Given the description of an element on the screen output the (x, y) to click on. 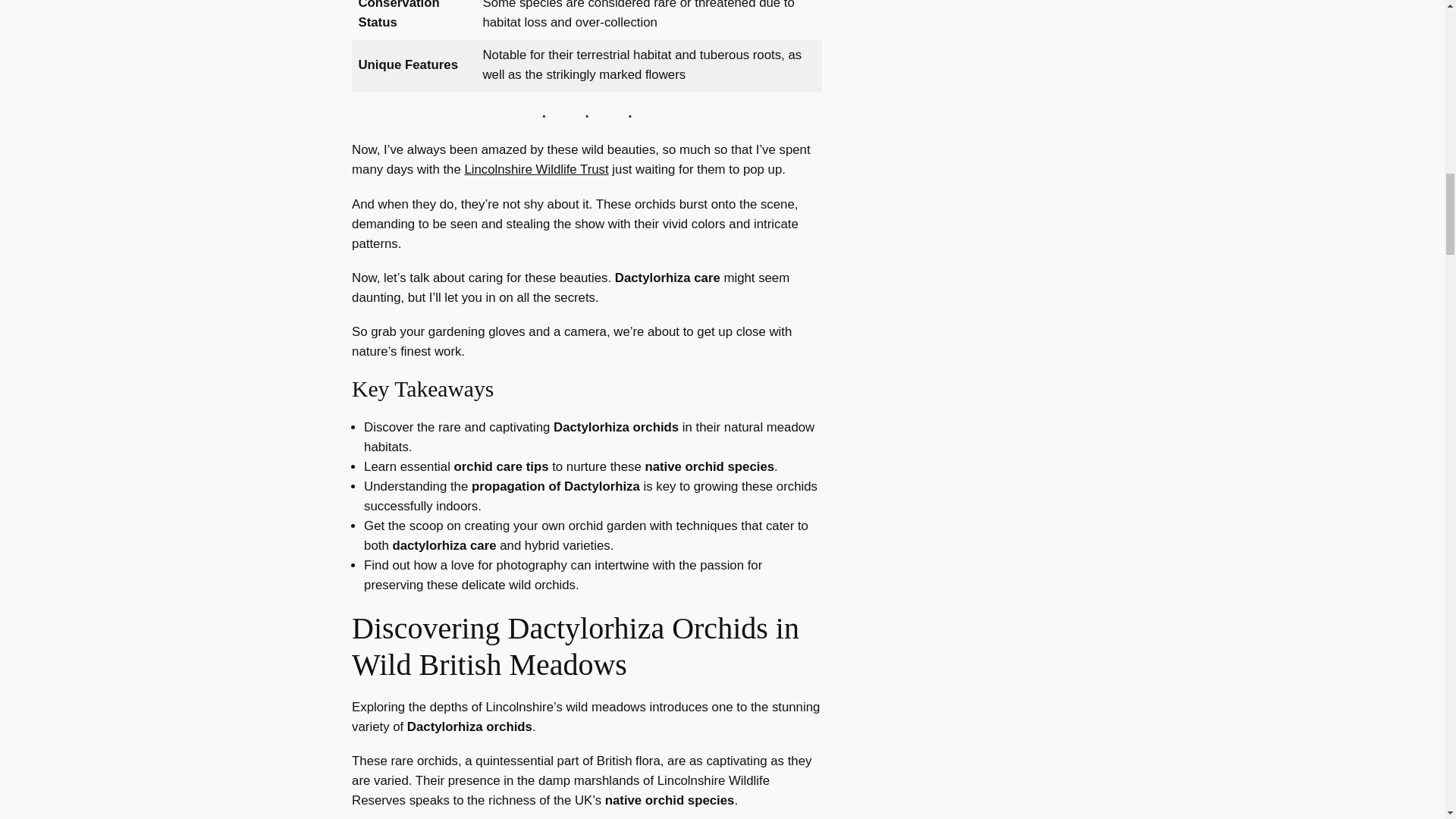
Lincolnshire Wildlife Trust (536, 169)
